Given the description of an element on the screen output the (x, y) to click on. 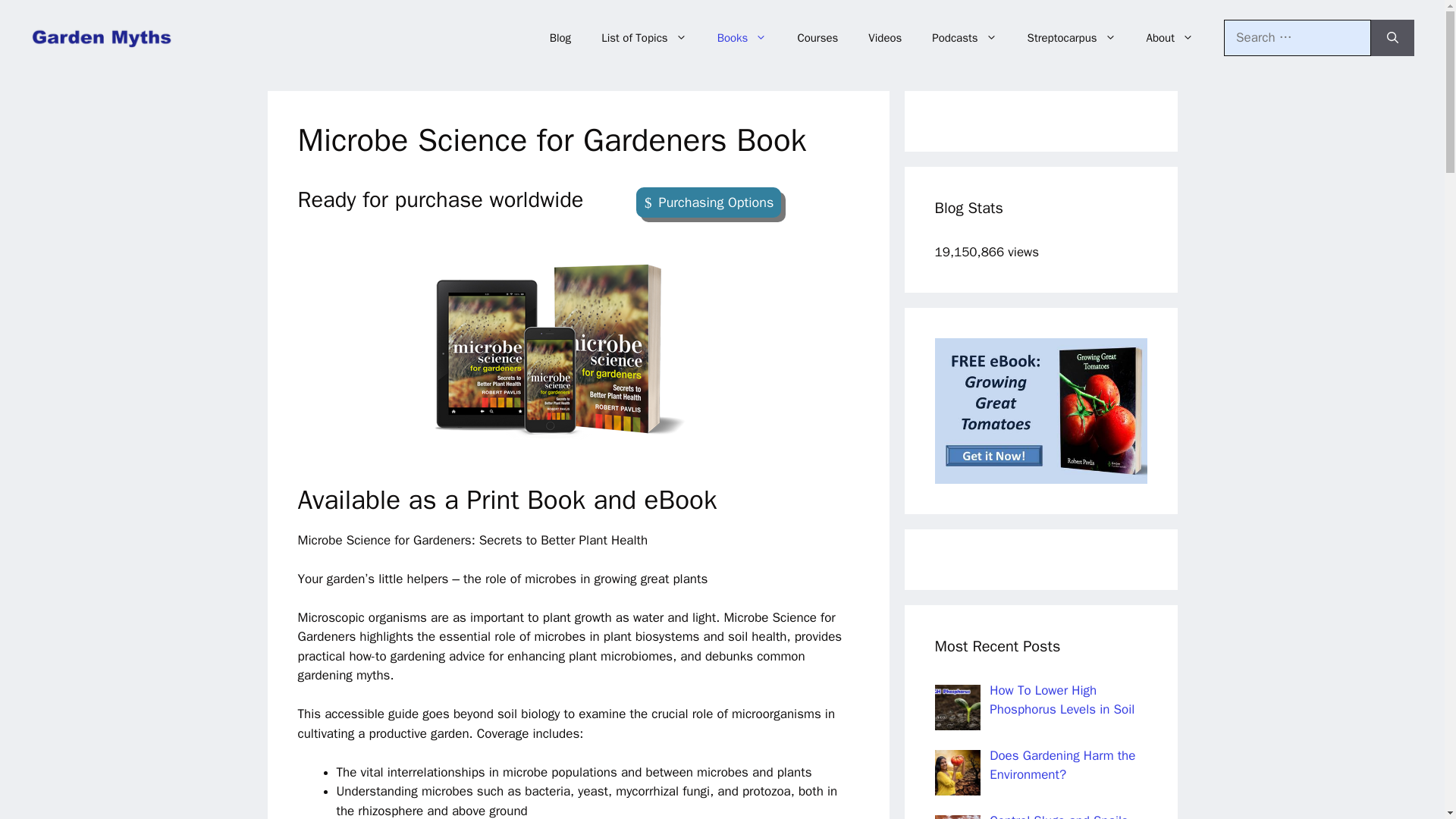
Background information for Garden Myths (1169, 37)
Podcasts (964, 37)
Microbe Science for Gardeners by Robert Pavlis (577, 349)
List of Topics (643, 37)
Courses (817, 37)
Videos (885, 37)
Books written by Robert Pavlis (742, 37)
About (1169, 37)
Books (742, 37)
Search for: (1297, 37)
